Given the description of an element on the screen output the (x, y) to click on. 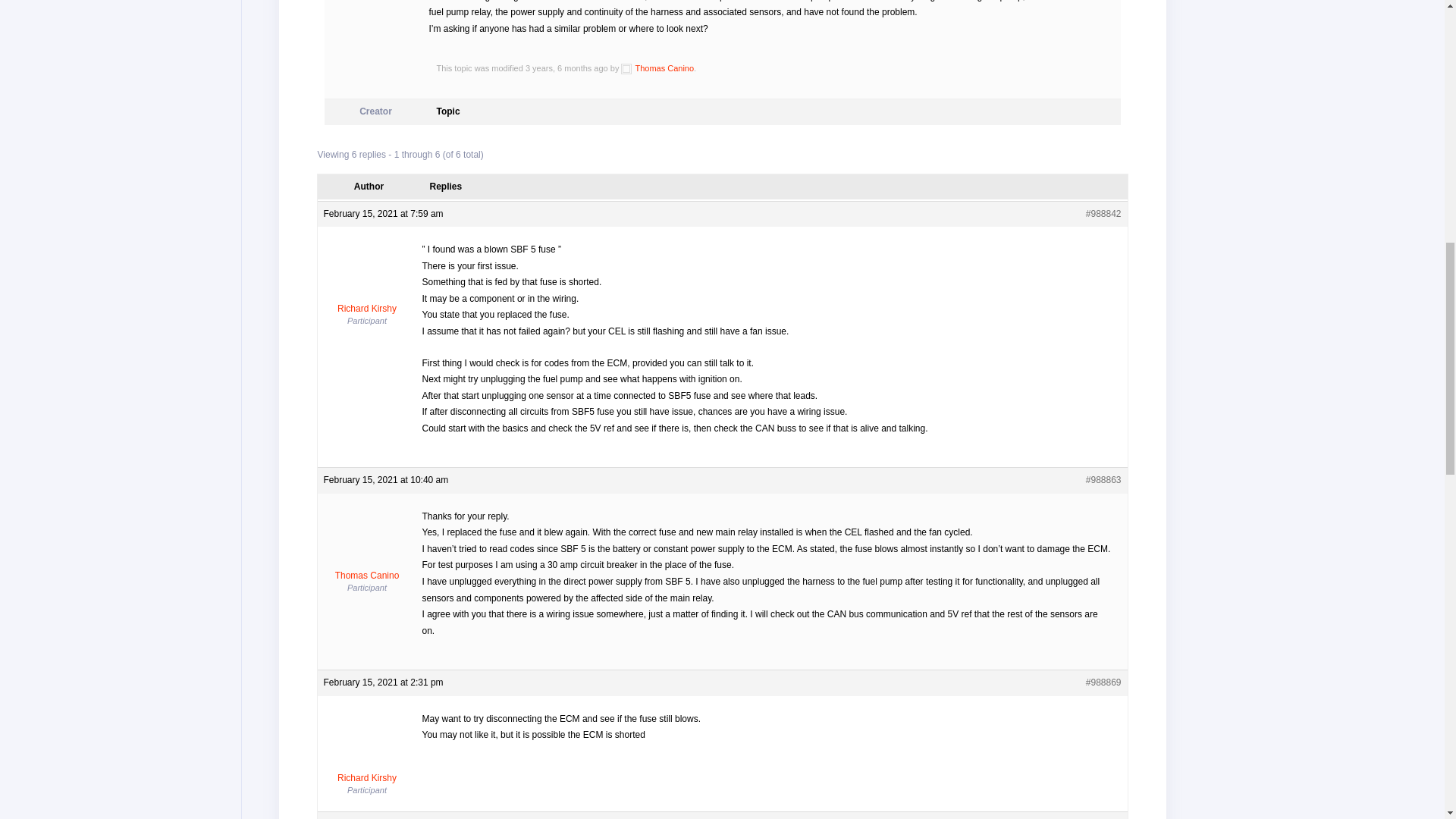
Richard Kirshy (366, 278)
View Thomas Canino's profile (657, 67)
View Richard Kirshy's profile (366, 747)
View Thomas Canino's profile (366, 545)
View Richard Kirshy's profile (366, 278)
Thomas Canino (657, 67)
Thomas Canino (366, 545)
